Given the description of an element on the screen output the (x, y) to click on. 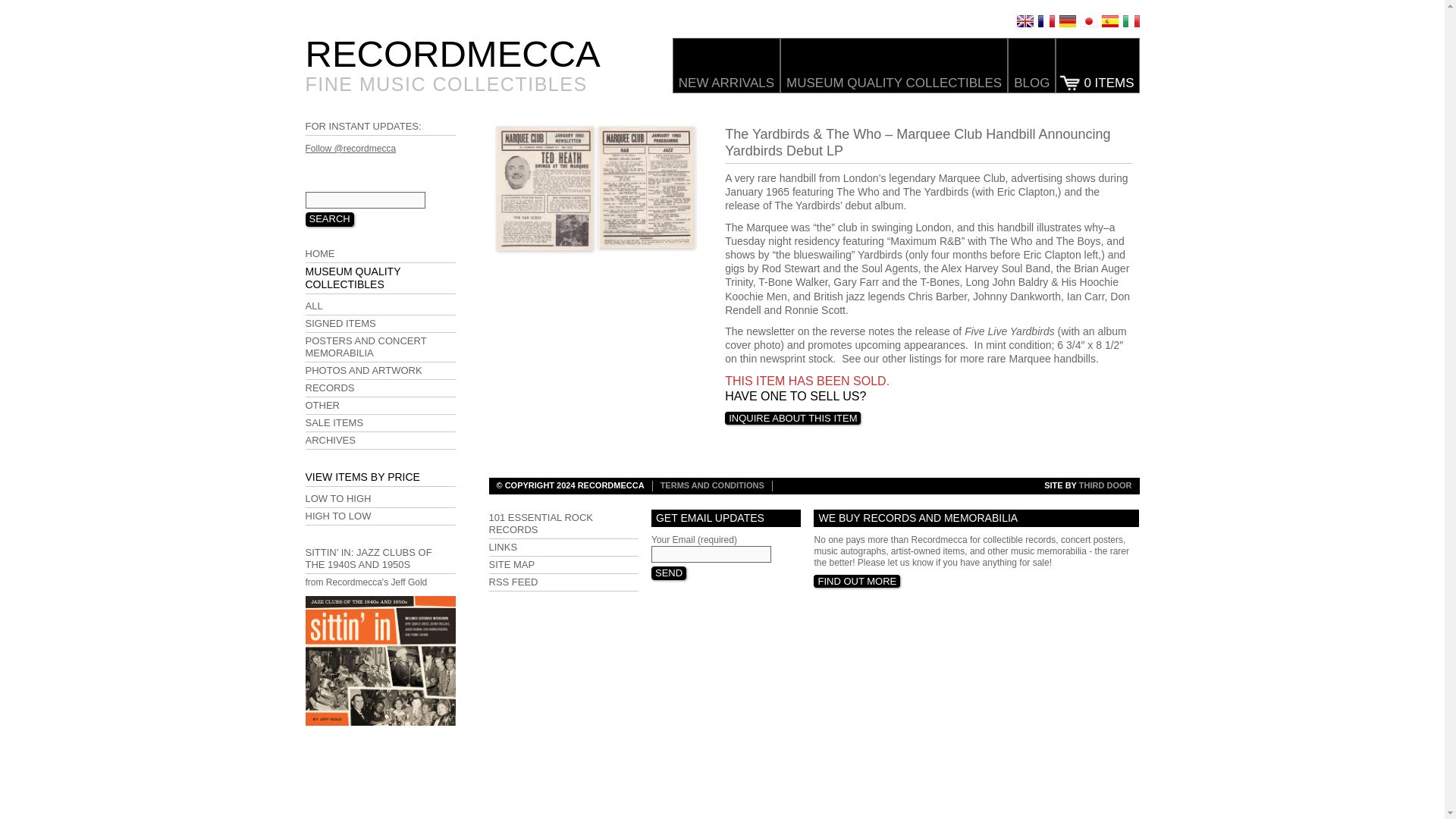
German (1066, 21)
POSTERS AND CONCERT MEMORABILIA (379, 347)
HIGH TO LOW (379, 516)
French (1045, 21)
Japanese (1088, 21)
Send (667, 572)
MUSEUM QUALITY COLLECTIBLES (893, 65)
Skip to content (334, 42)
Spanish (1109, 21)
LOW TO HIGH (379, 498)
Skip to content (334, 42)
English (1024, 21)
Italian (1130, 21)
CHECKOUT (1096, 65)
SALE ITEMS (379, 423)
